Given the description of an element on the screen output the (x, y) to click on. 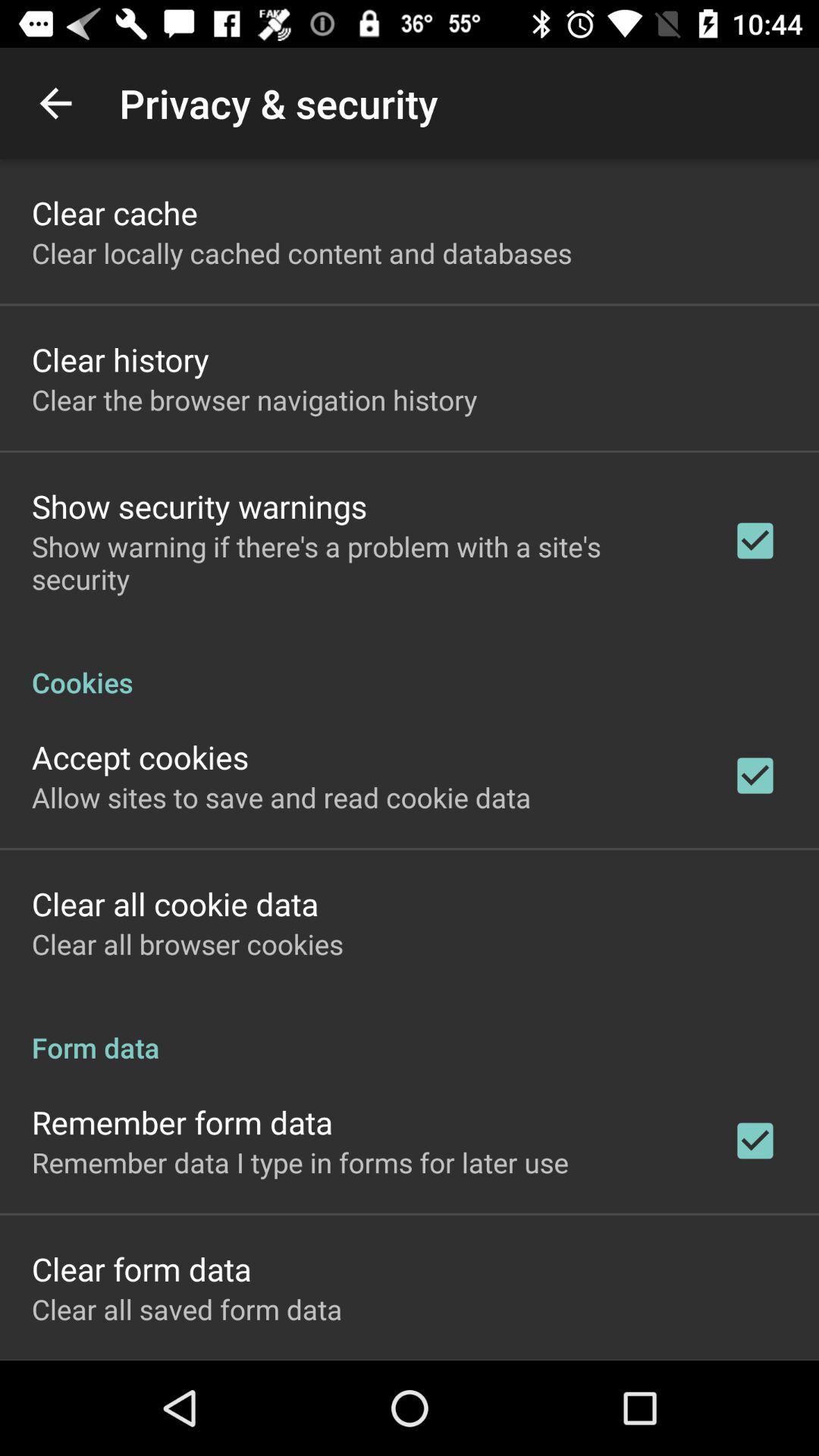
scroll until the clear locally cached icon (301, 252)
